Given the description of an element on the screen output the (x, y) to click on. 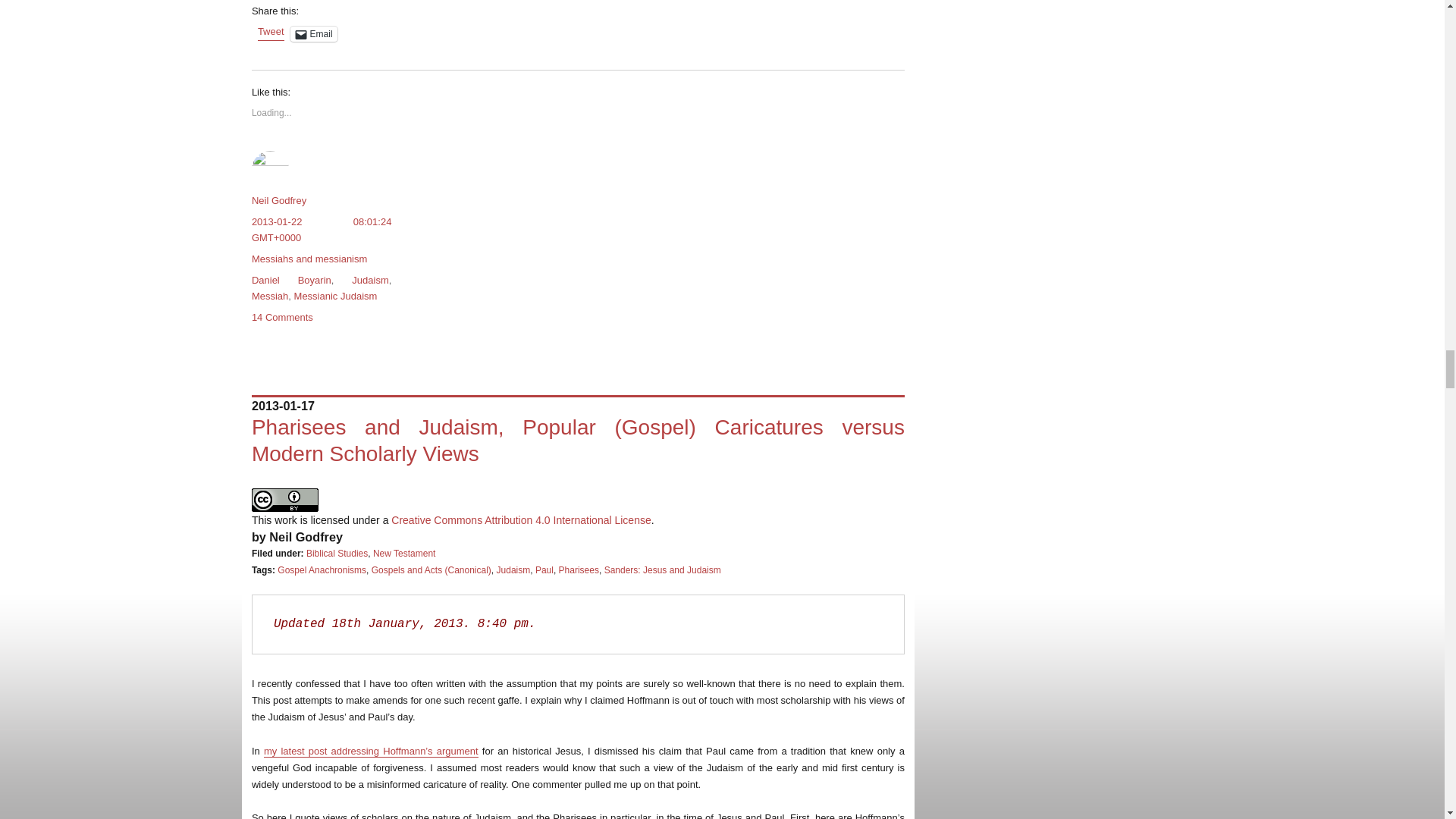
Click to email a link to a friend (313, 33)
